Given the description of an element on the screen output the (x, y) to click on. 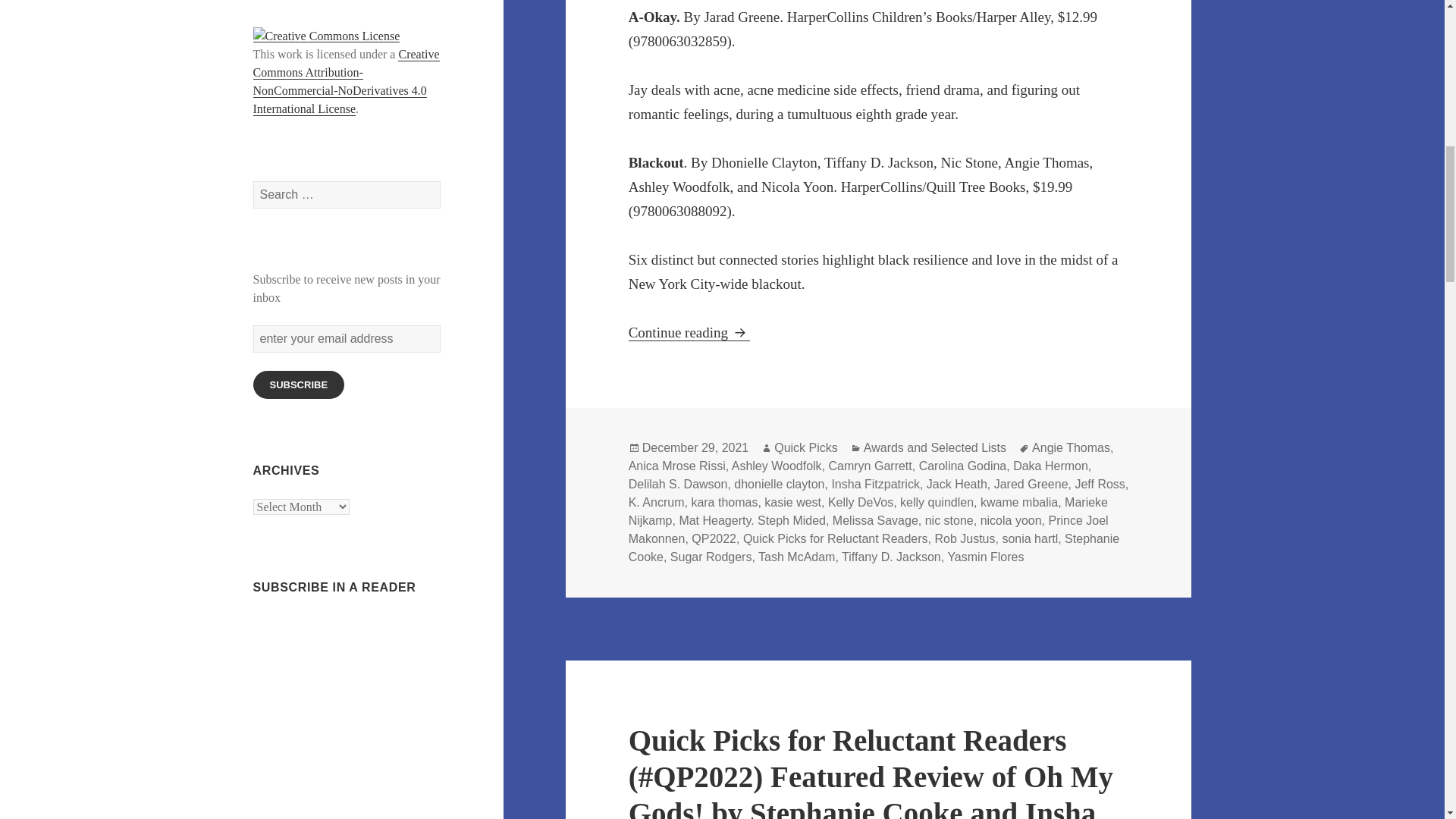
Angie Thomas (1070, 448)
Quick Picks (806, 448)
SUBSCRIBE (299, 384)
December 29, 2021 (695, 448)
Anica Mrose Rissi (676, 466)
Awards and Selected Lists (934, 448)
